Given the description of an element on the screen output the (x, y) to click on. 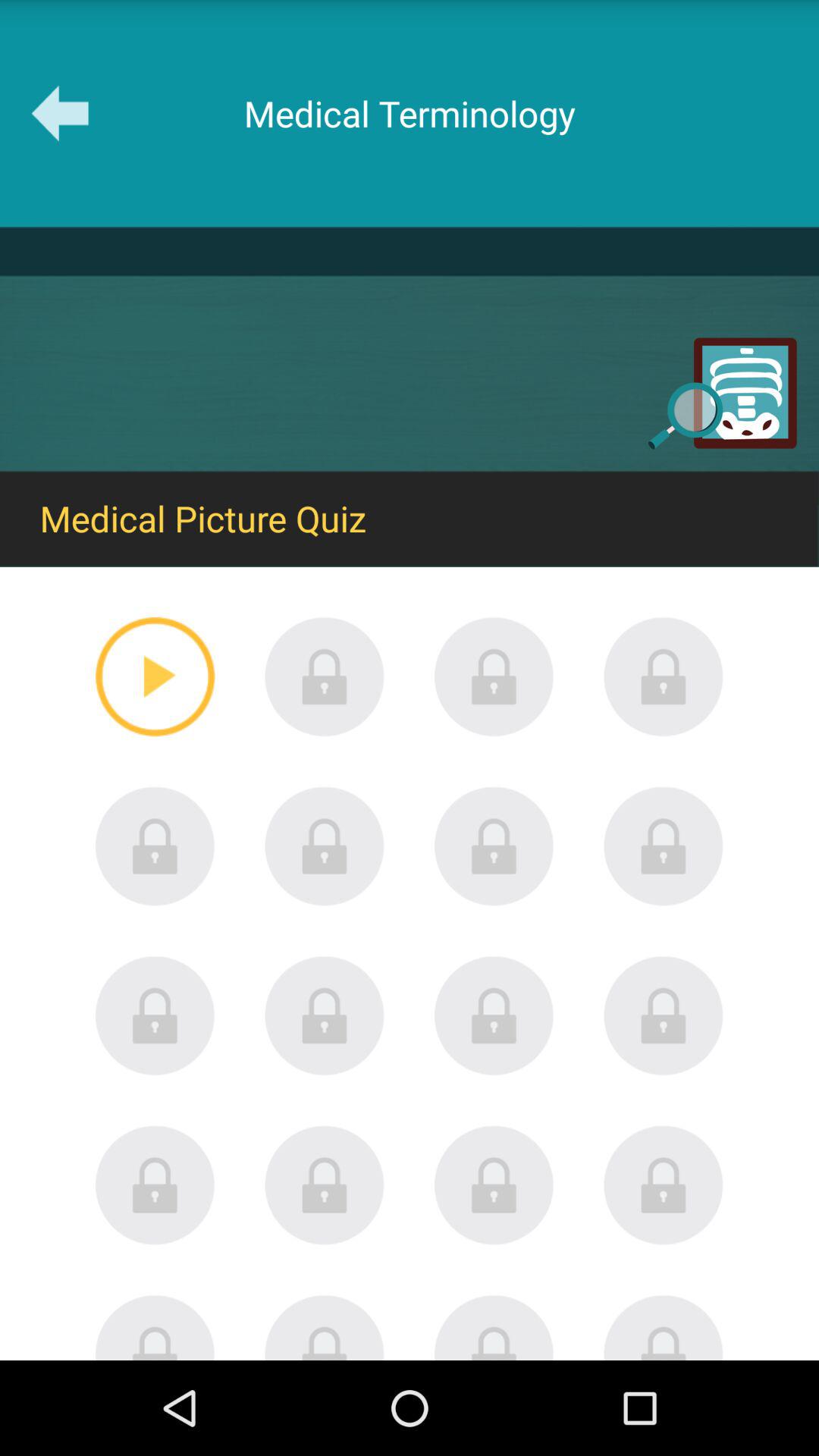
unlock/purchase (663, 676)
